Given the description of an element on the screen output the (x, y) to click on. 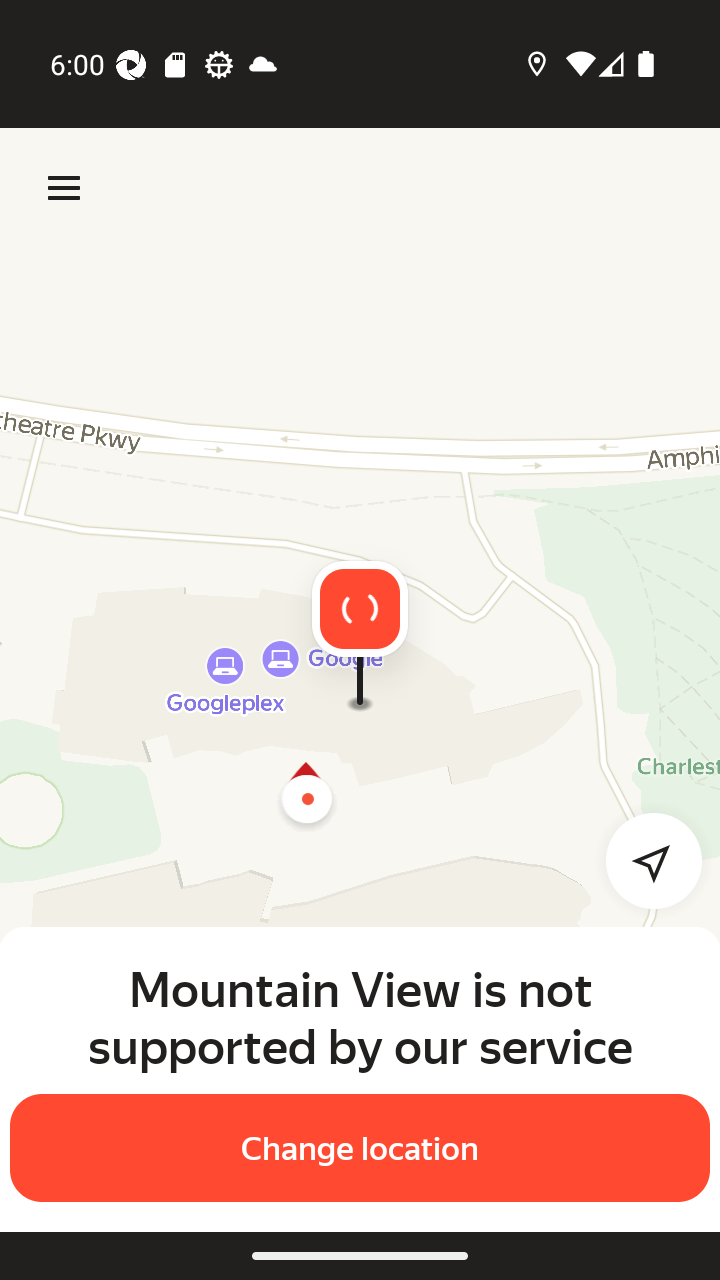
Menu Menu Menu (64, 188)
Detect my location (641, 860)
Mountain View is not supported by our service (360, 1017)
Change location (359, 1147)
